Given the description of an element on the screen output the (x, y) to click on. 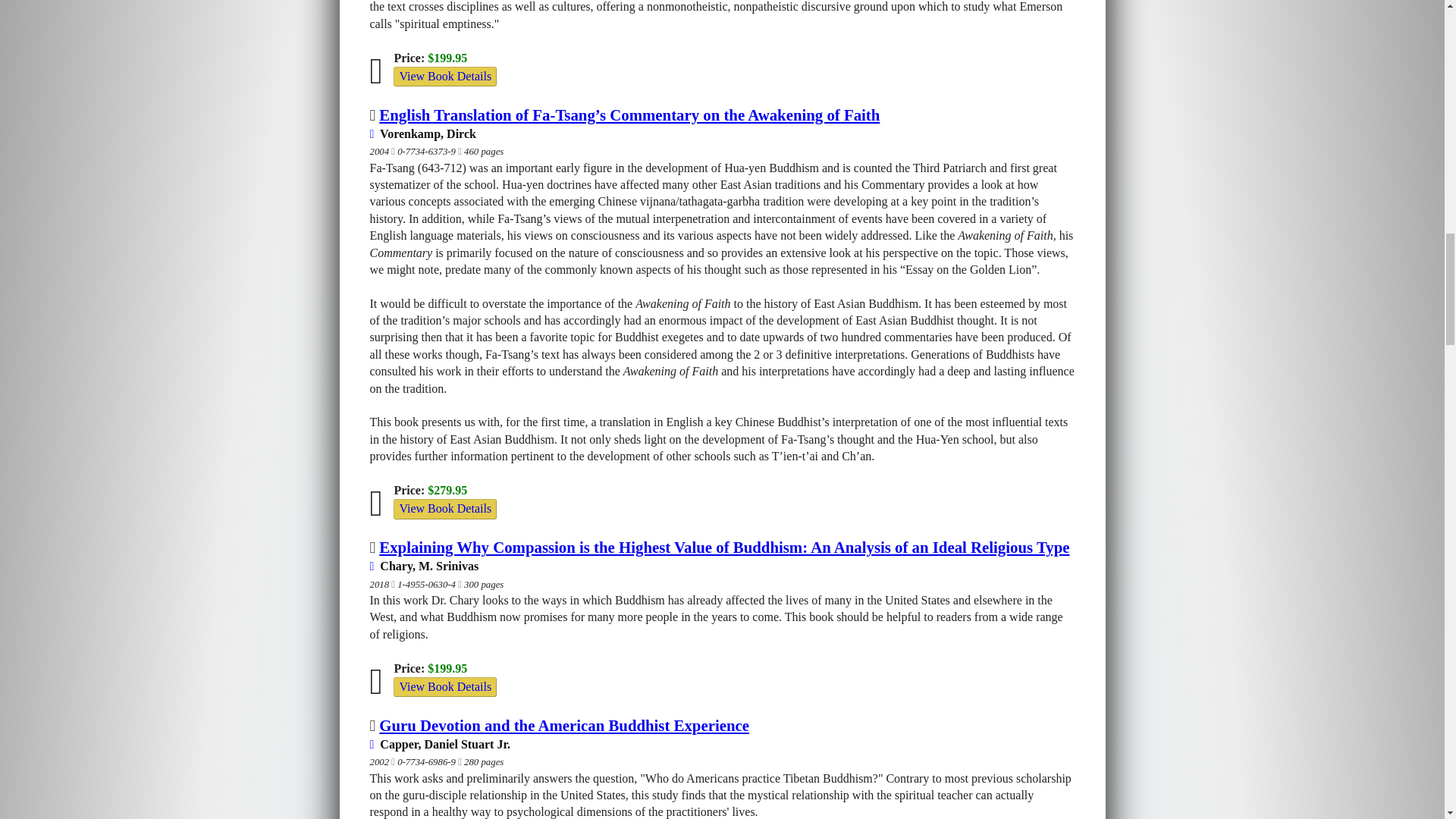
 Vorenkamp, Dirck (422, 133)
View Book Details (444, 75)
View Book Details (444, 76)
View Book Details (444, 508)
View Book Details (444, 508)
